Given the description of an element on the screen output the (x, y) to click on. 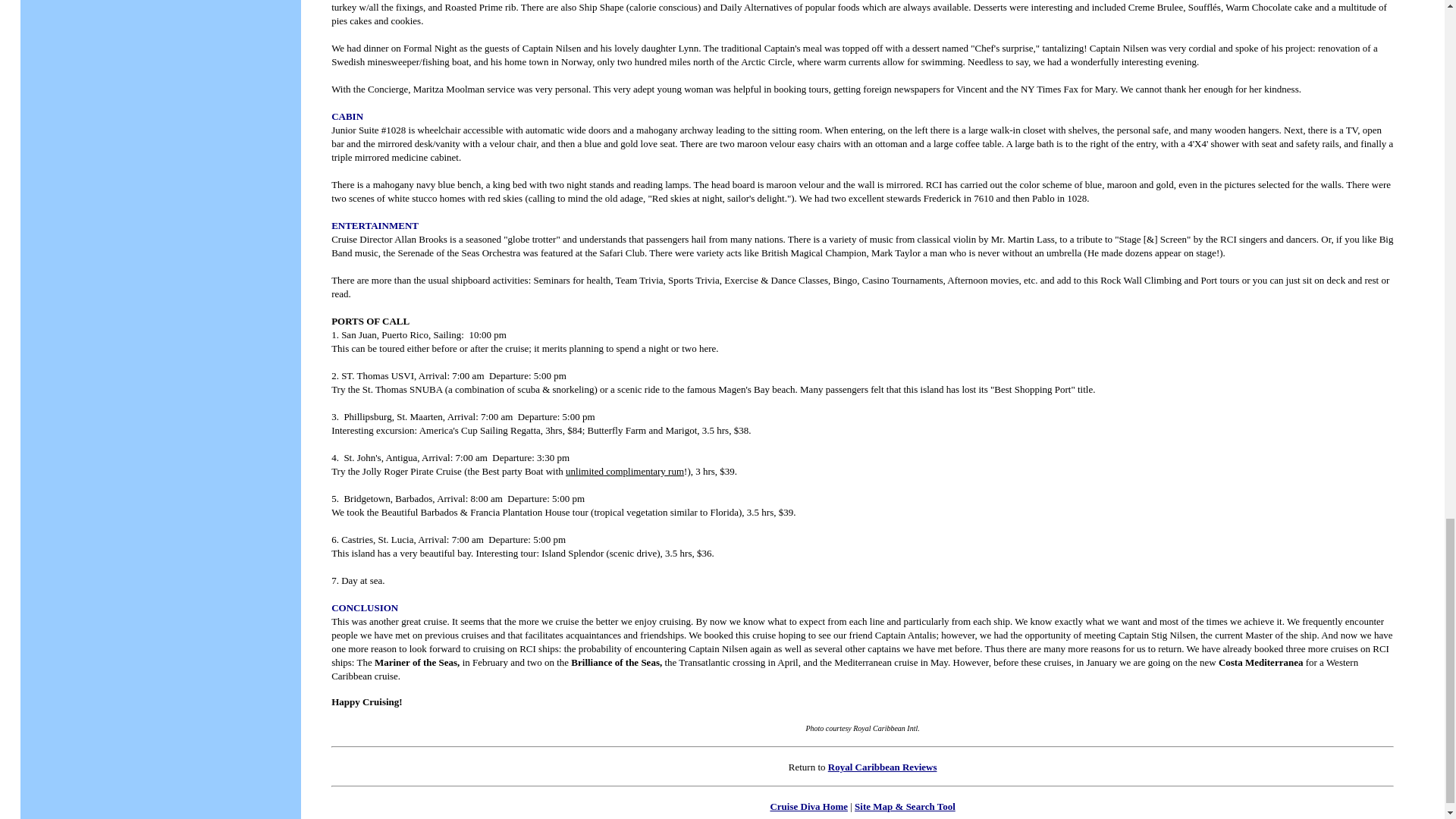
Cruise Diva Home (808, 806)
Royal Caribbean Reviews (882, 767)
